Given the description of an element on the screen output the (x, y) to click on. 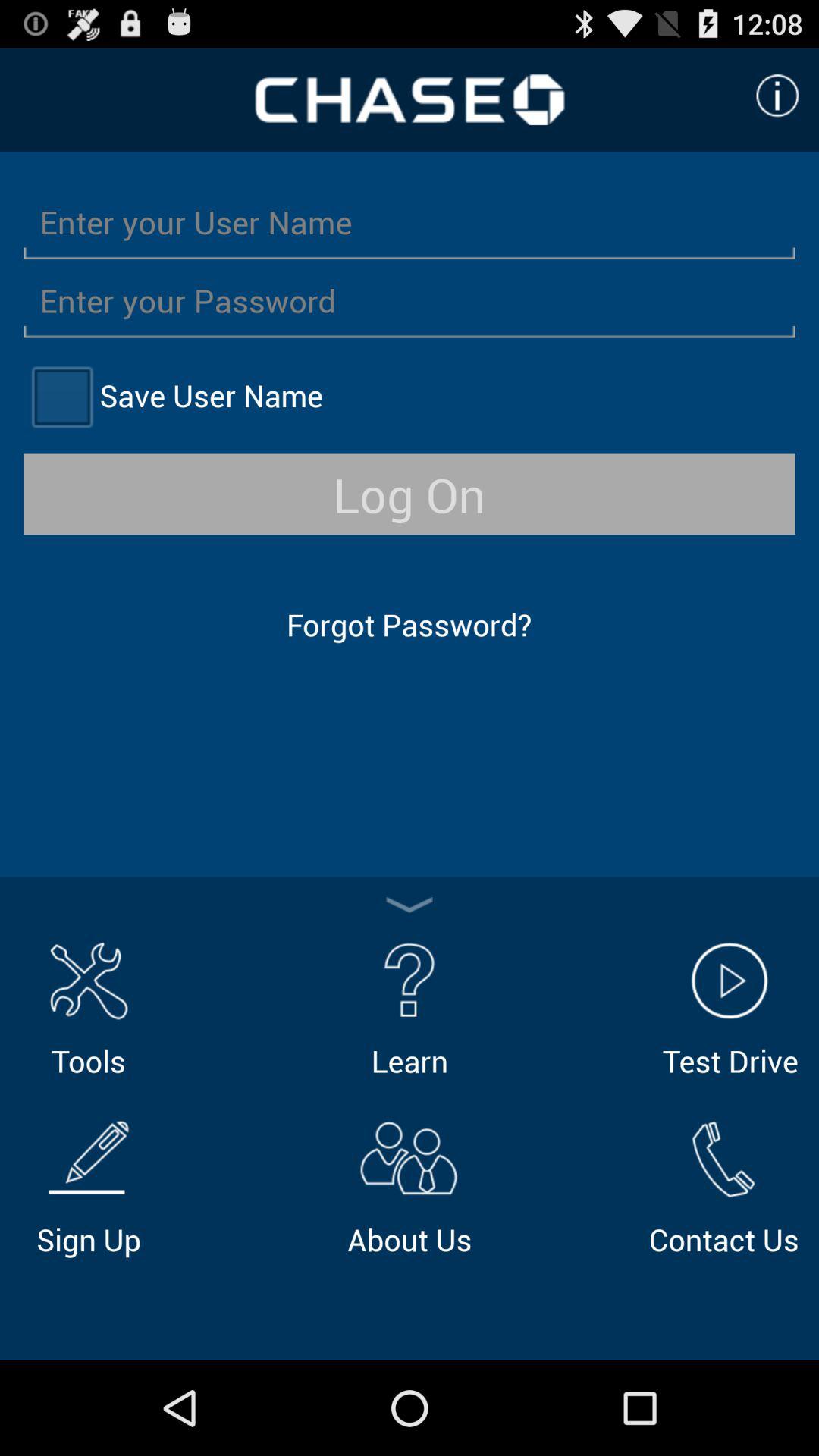
scroll to forgot password? item (408, 624)
